Given the description of an element on the screen output the (x, y) to click on. 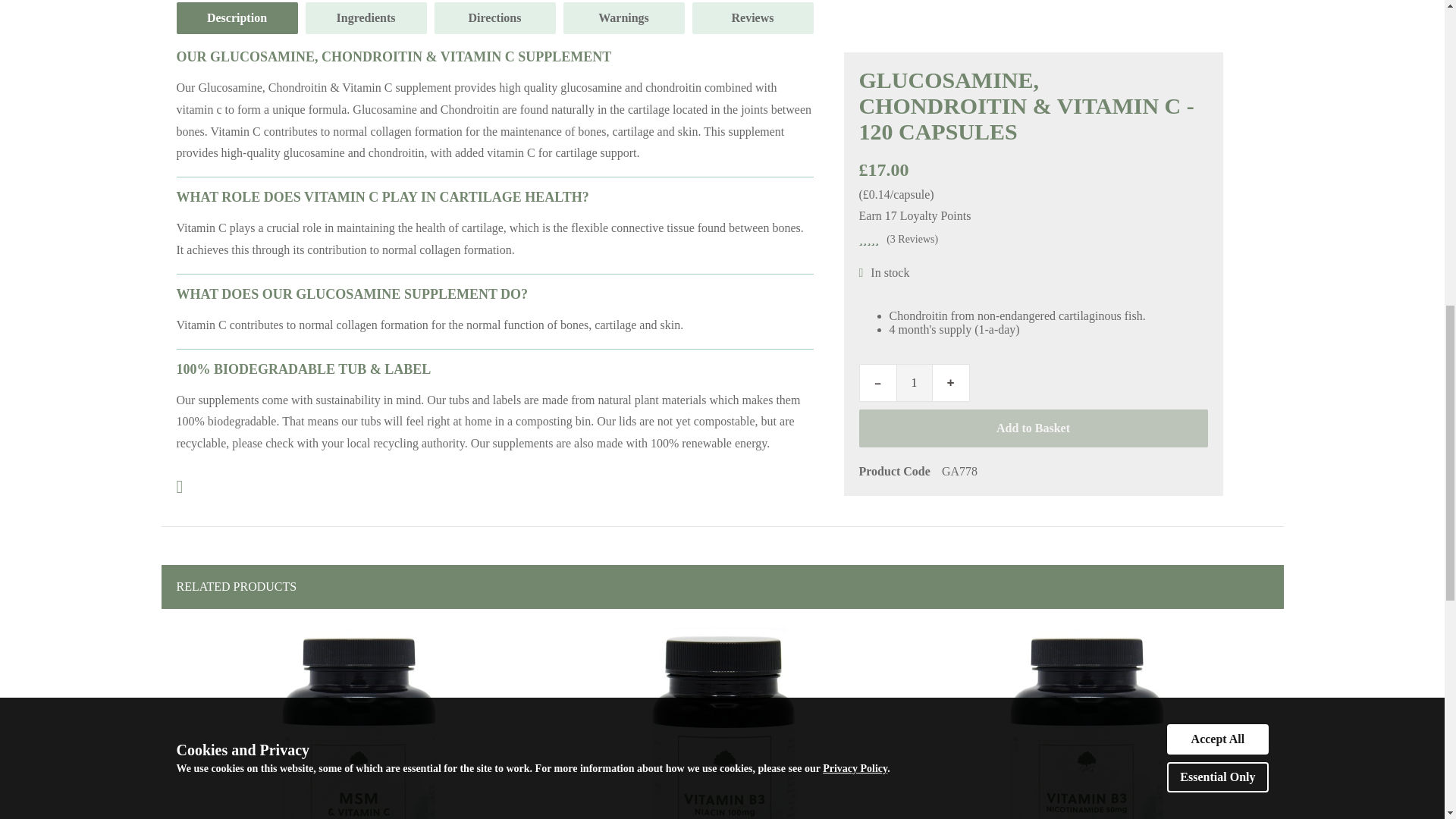
Tell a Friend (179, 486)
